Given the description of an element on the screen output the (x, y) to click on. 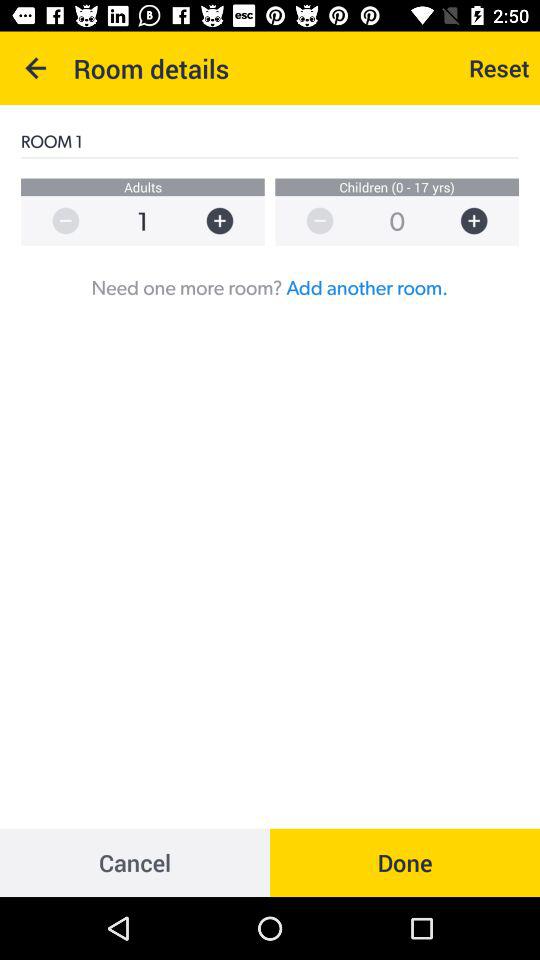
tap icon at the bottom right corner (405, 862)
